Given the description of an element on the screen output the (x, y) to click on. 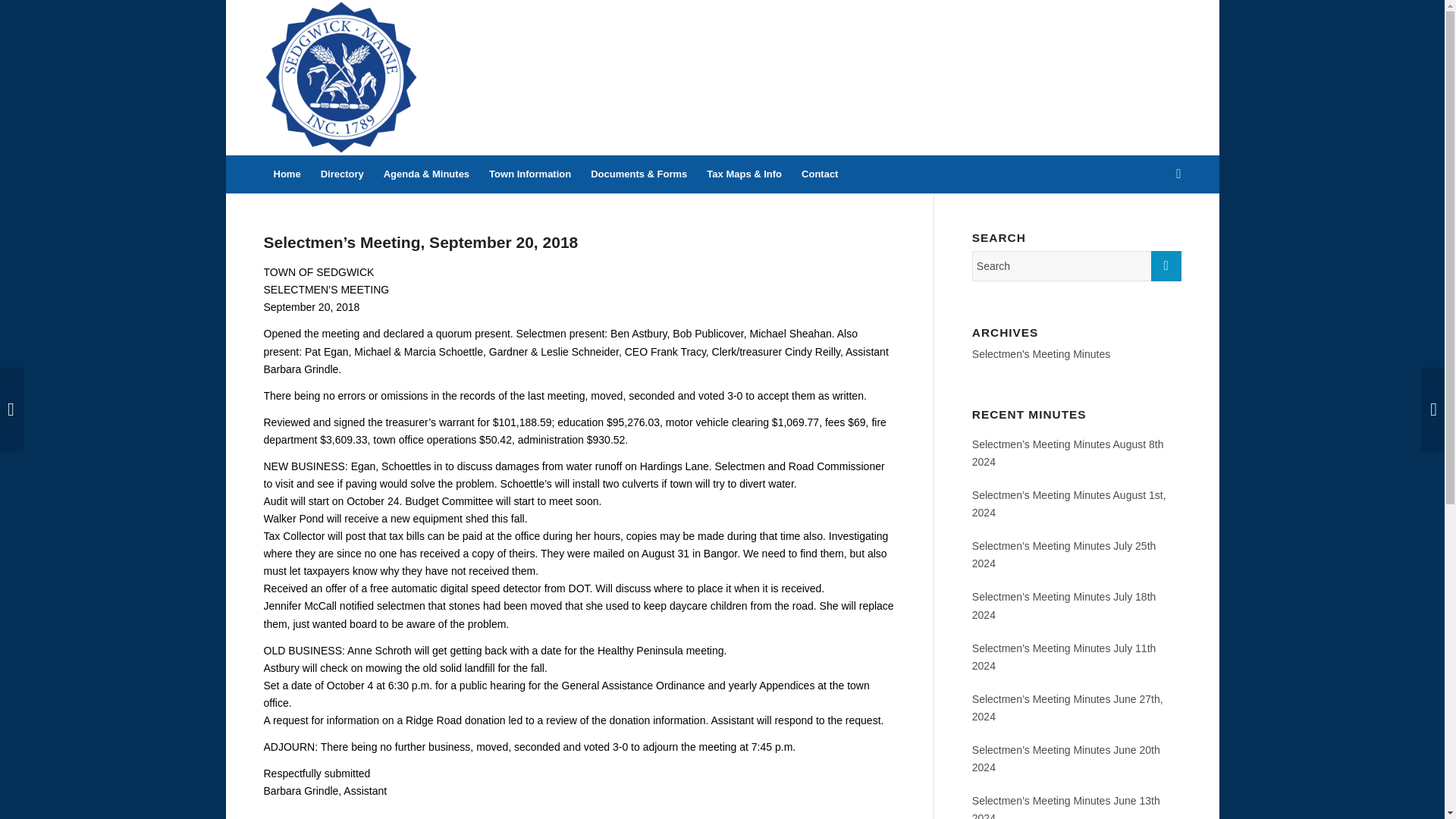
Contact (819, 174)
Town Information (529, 174)
Directory (342, 174)
Home (287, 174)
